Given the description of an element on the screen output the (x, y) to click on. 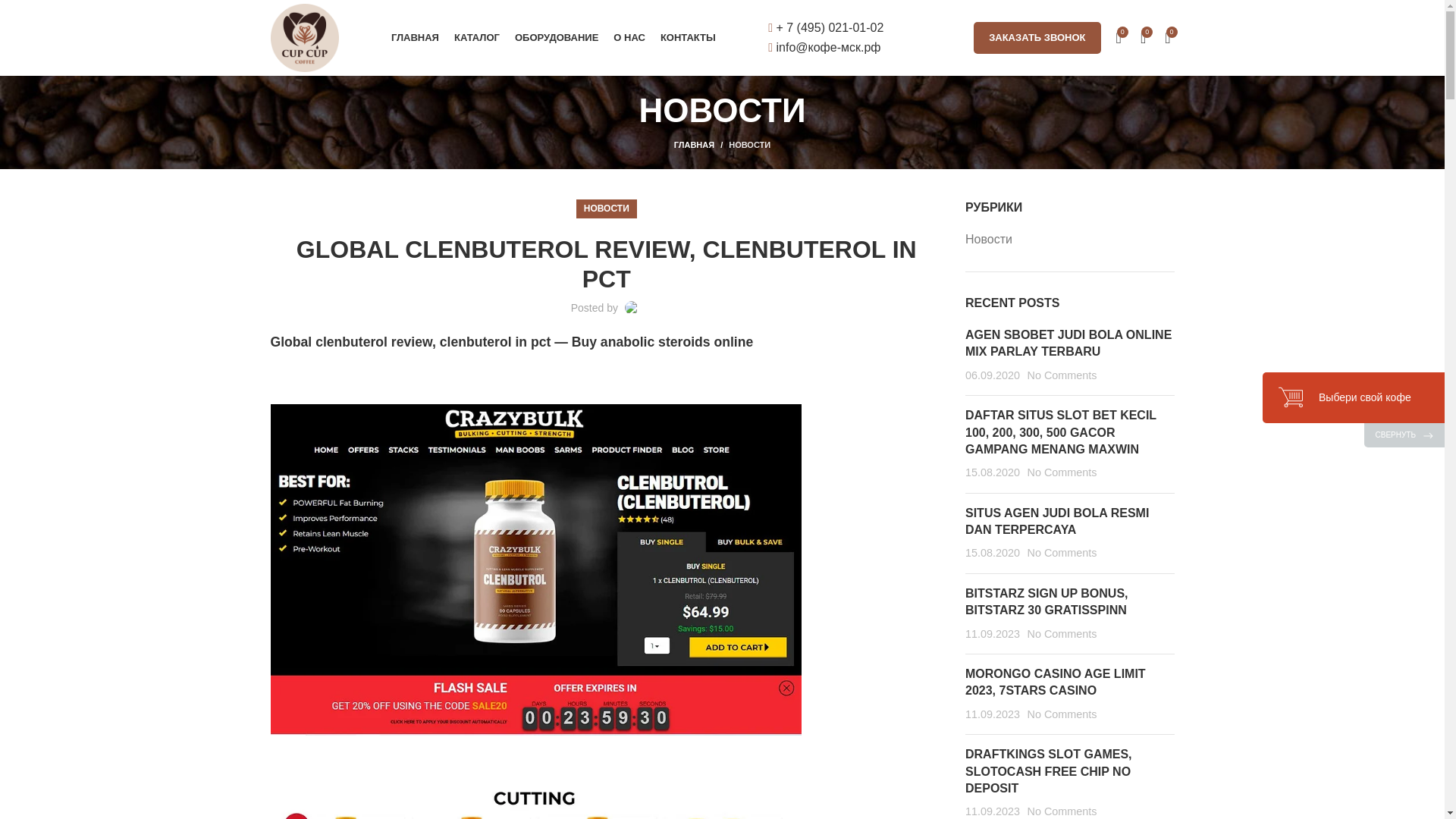
AGEN SBOBET JUDI BOLA ONLINE MIX PARLAY TERBARU (1068, 342)
BITSTARZ SIGN UP BONUS, BITSTARZ 30 GRATISSPINN (1046, 601)
Permalink to Morongo casino age limit 2023, 7stars casino (1055, 681)
Permalink to Agen Sbobet Judi Bola Online Mix Parlay Terbaru (1068, 342)
global review clenbuterol (534, 803)
No Comments (1061, 375)
No Comments (1061, 472)
Permalink to Bitstarz sign up bonus, bitstarz 30 gratisspinn (1046, 601)
Permalink to Situs Agen Judi Bola Resmi Dan Terpercaya (1056, 521)
SITUS AGEN JUDI BOLA RESMI DAN TERPERCAYA (1056, 521)
No Comments (1061, 552)
